Given the description of an element on the screen output the (x, y) to click on. 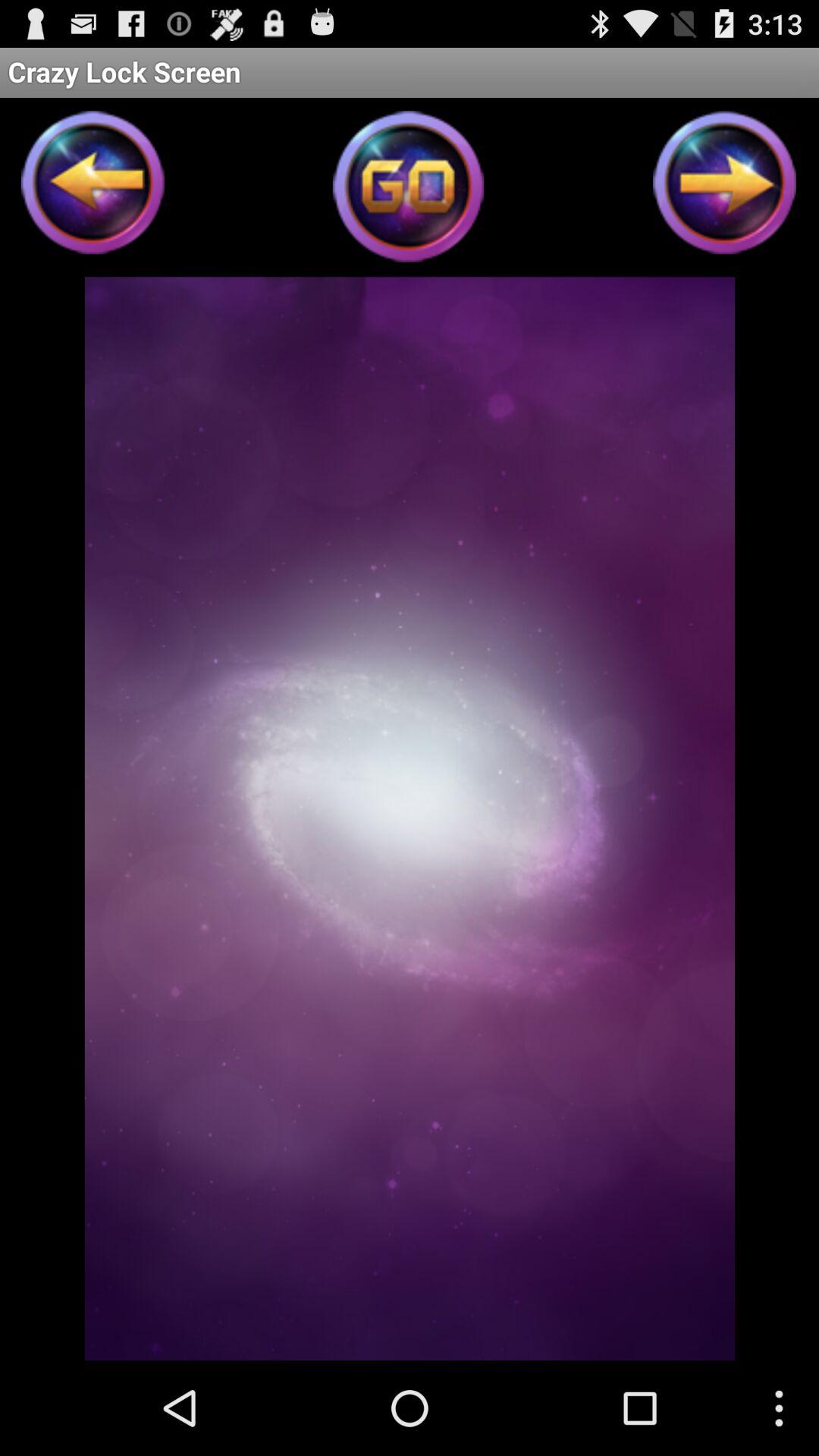
go to previous (93, 186)
